Given the description of an element on the screen output the (x, y) to click on. 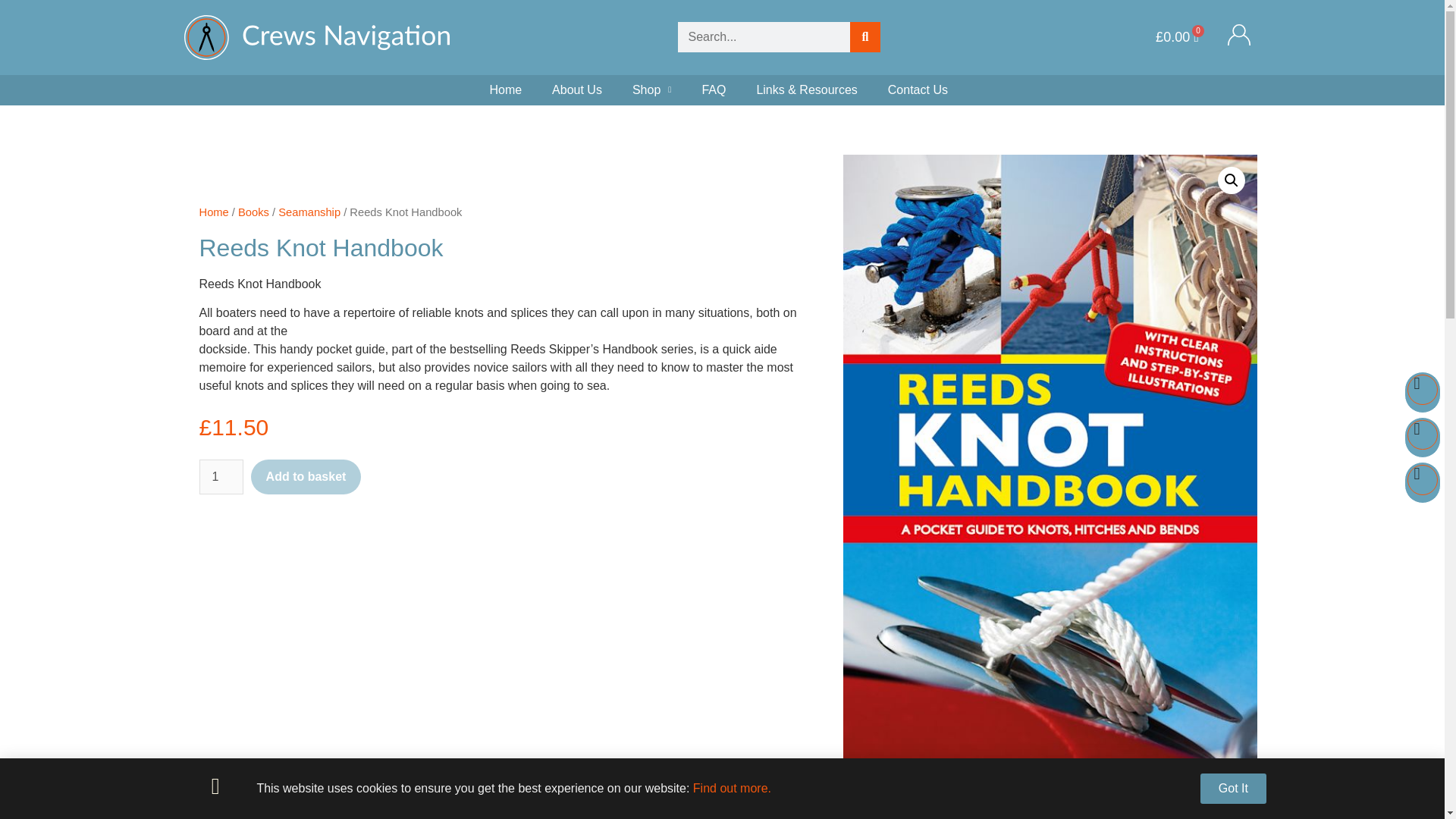
Home (505, 90)
FAQ (713, 90)
Contact Us (917, 90)
About Us (577, 90)
Shop (651, 90)
1 (220, 476)
